Given the description of an element on the screen output the (x, y) to click on. 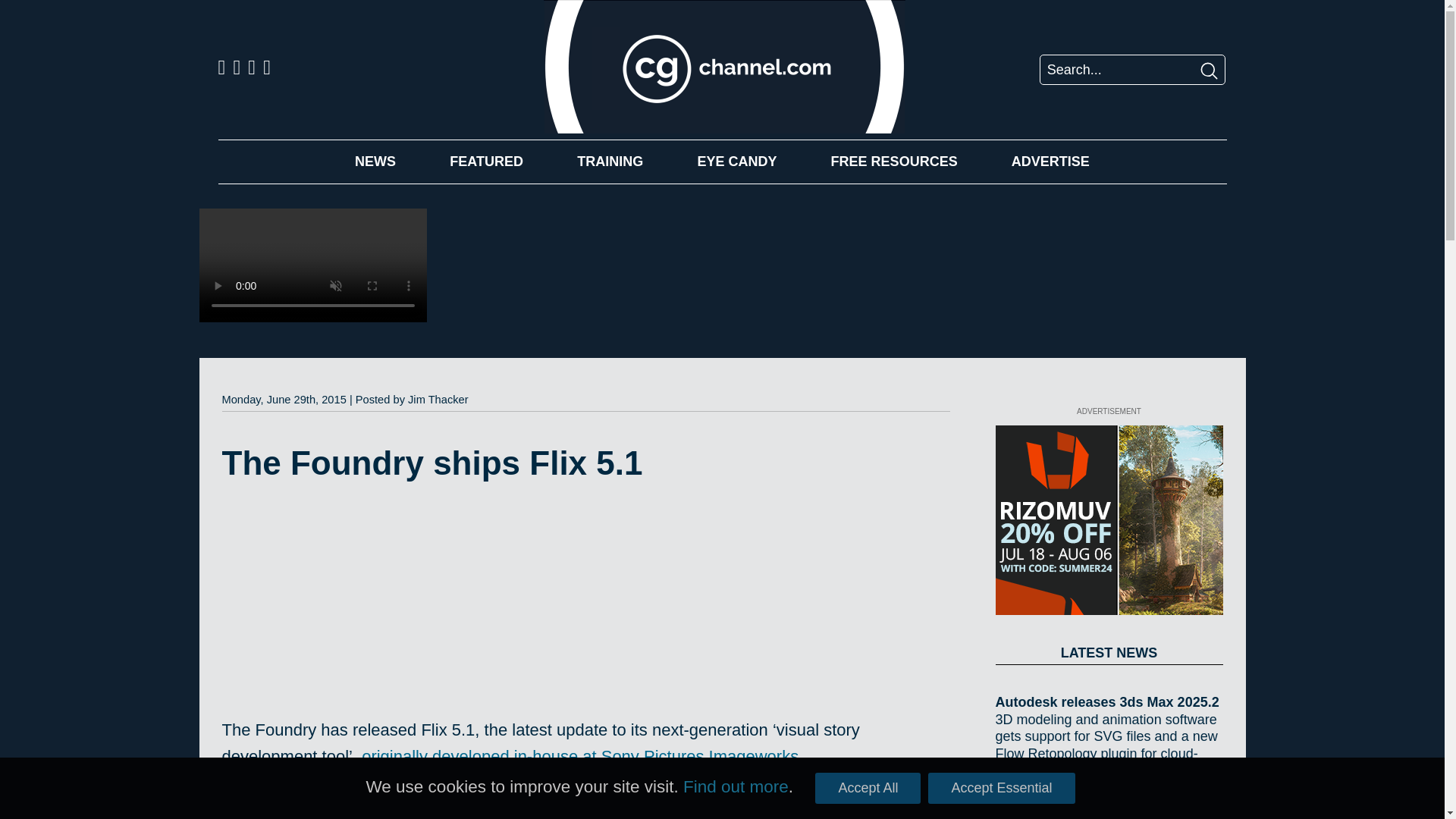
FLIX 5.1 Overview (410, 609)
FEATURED (485, 160)
ADVERTISE (1050, 160)
FREE RESOURCES (894, 160)
originally developed in-house at Sony Pictures Imageworks (579, 755)
TRAINING (609, 160)
NEWS (375, 160)
EYE CANDY (736, 160)
